Given the description of an element on the screen output the (x, y) to click on. 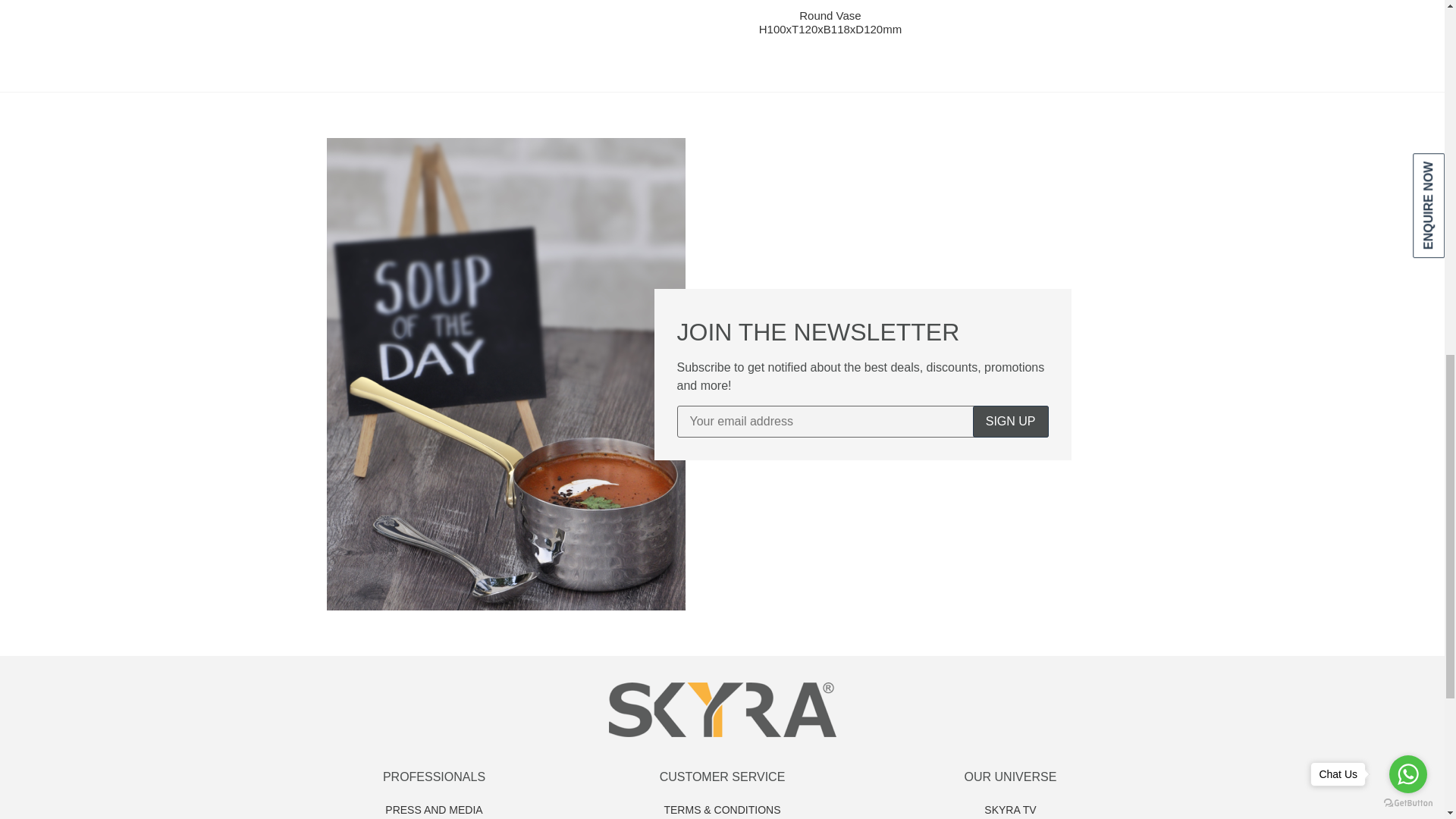
Sign up (1010, 421)
